Given the description of an element on the screen output the (x, y) to click on. 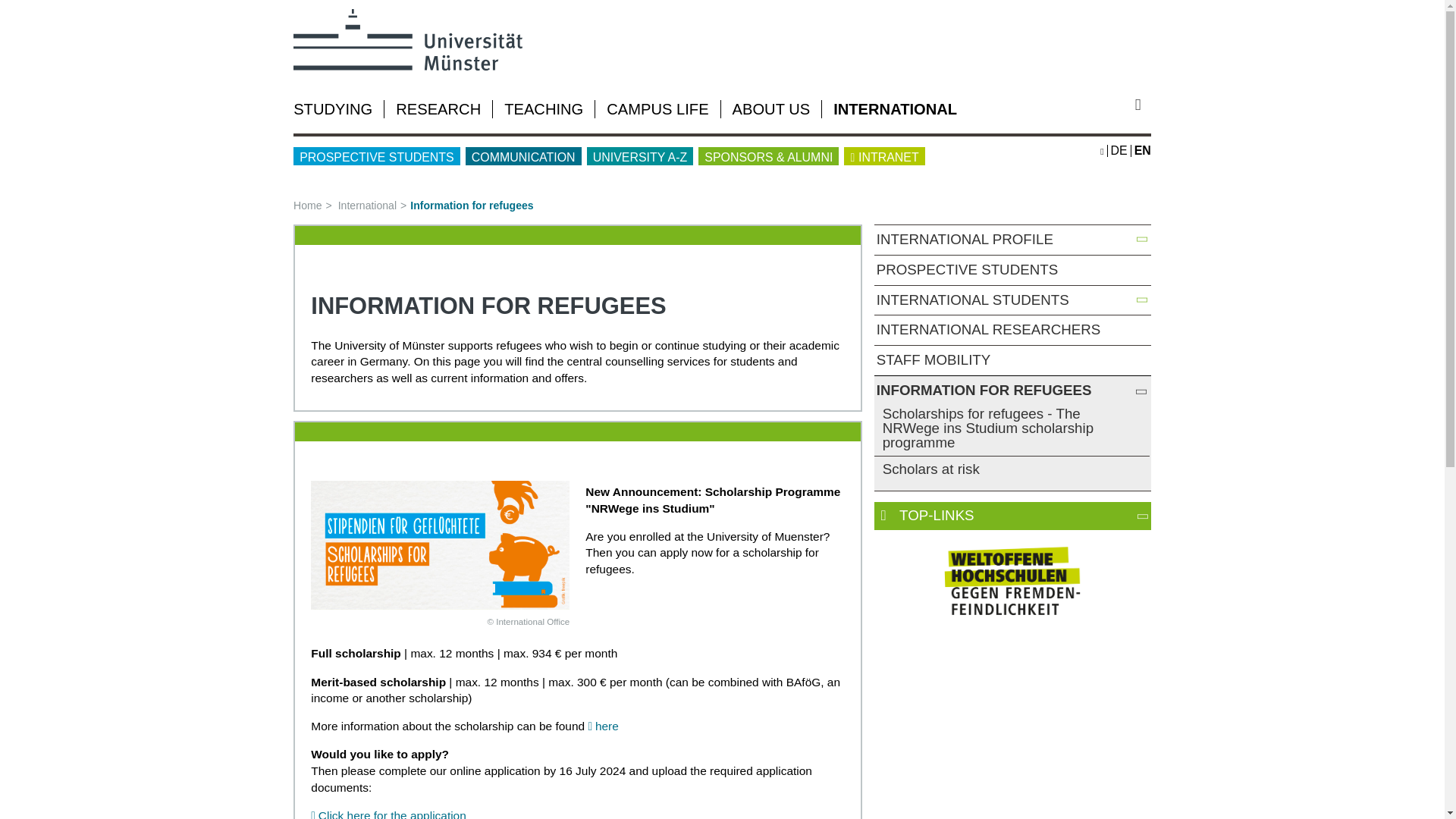
ABOUT US (771, 108)
English (1142, 150)
Deutsch (1118, 150)
Go (1143, 104)
RESEARCH (438, 108)
CAMPUS LIFE (657, 108)
Go (1143, 104)
Go (1143, 104)
STUDYING (333, 108)
Link will be opened in a new window (1012, 580)
TEACHING (543, 108)
